Given the description of an element on the screen output the (x, y) to click on. 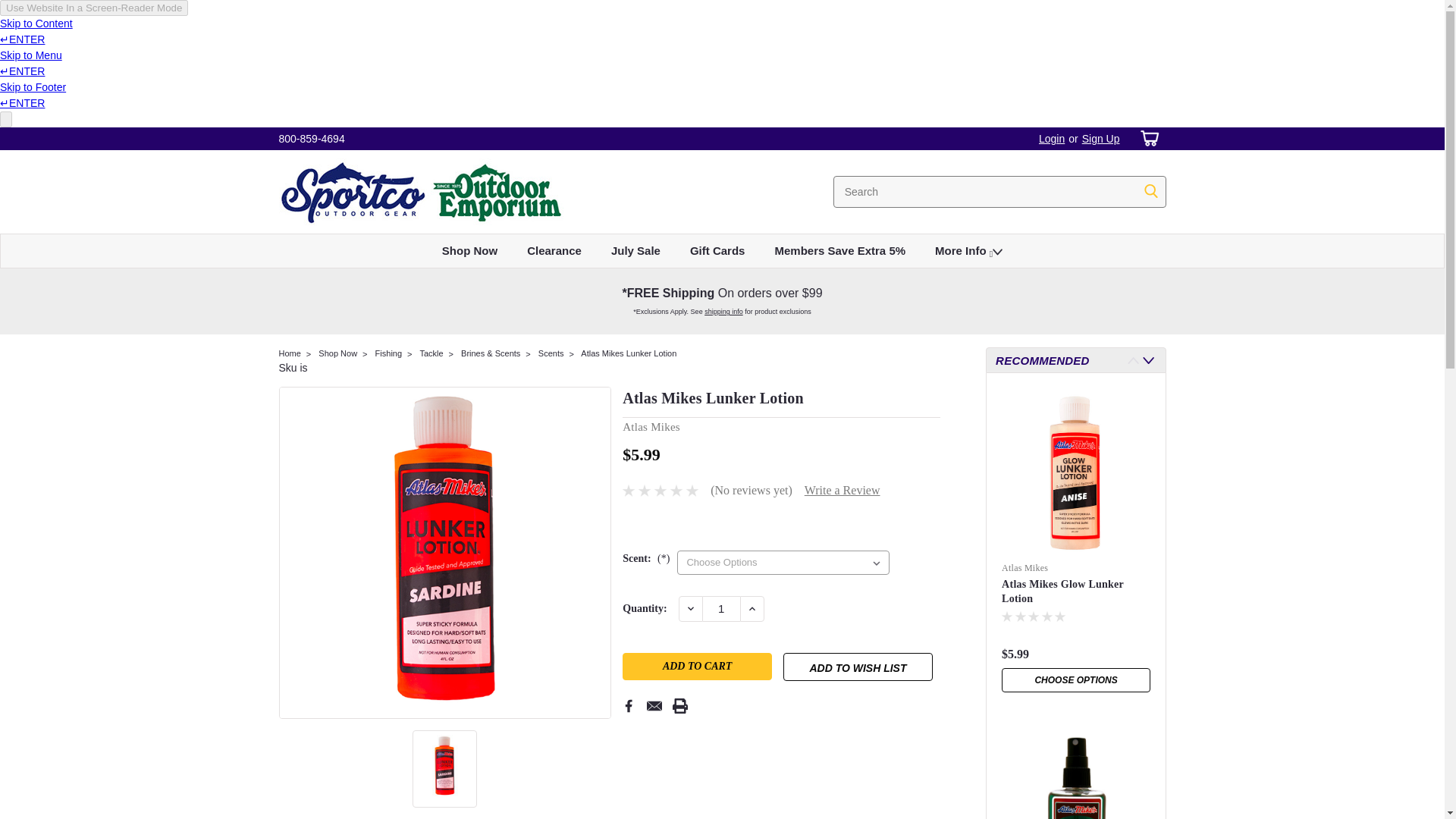
1 (721, 608)
submit (1150, 191)
Login (1051, 138)
Sign Up (1098, 138)
Atlas Mikes Lunker Spray (1075, 772)
Add to Cart (697, 666)
Facebook (628, 705)
Email (654, 705)
Print (679, 705)
